Given the description of an element on the screen output the (x, y) to click on. 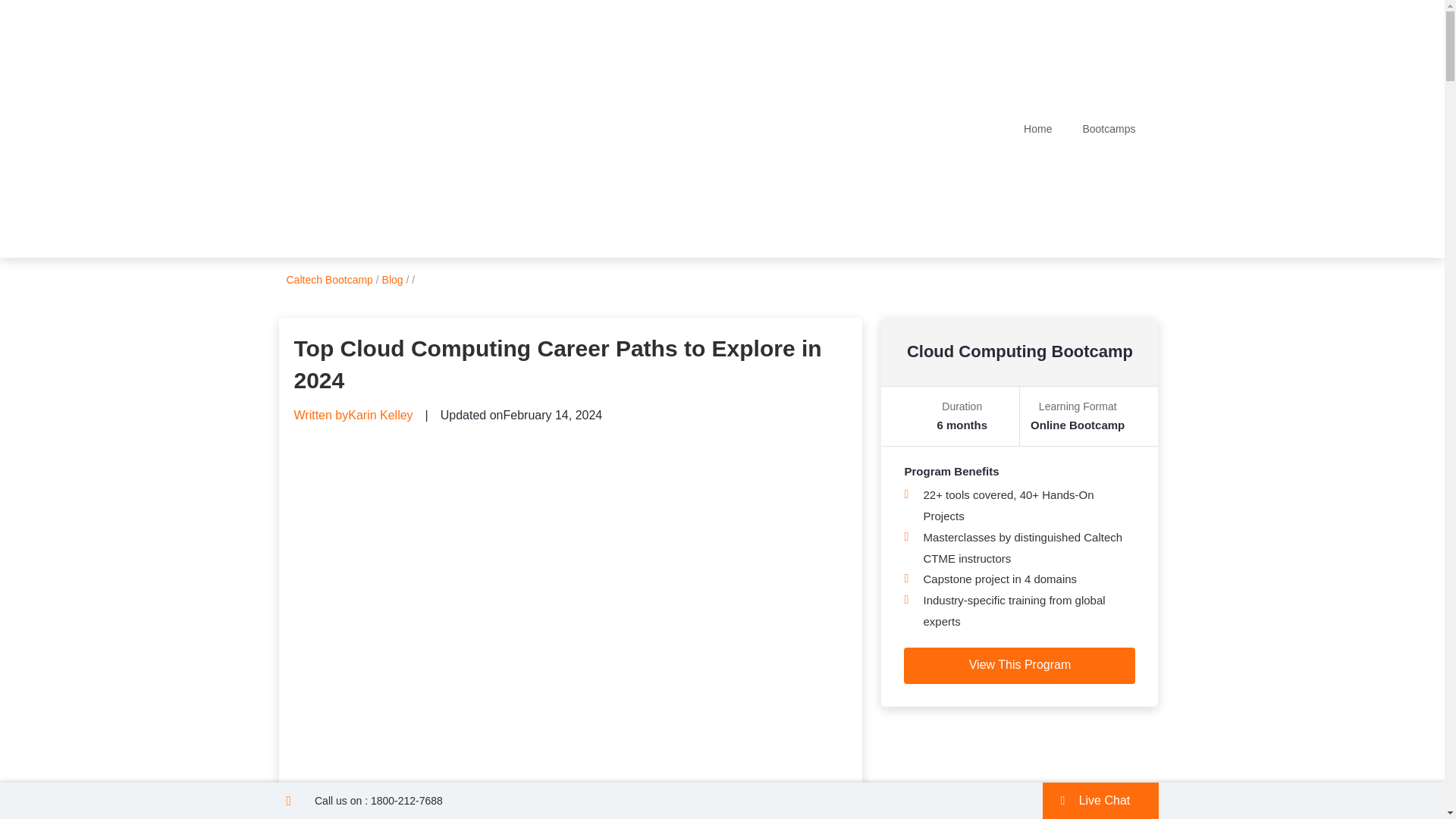
Bootcamps (1108, 128)
Written byKarin Kelley (353, 415)
Caltech Bootcamp (329, 279)
Home (1038, 128)
Blog (392, 279)
